Given the description of an element on the screen output the (x, y) to click on. 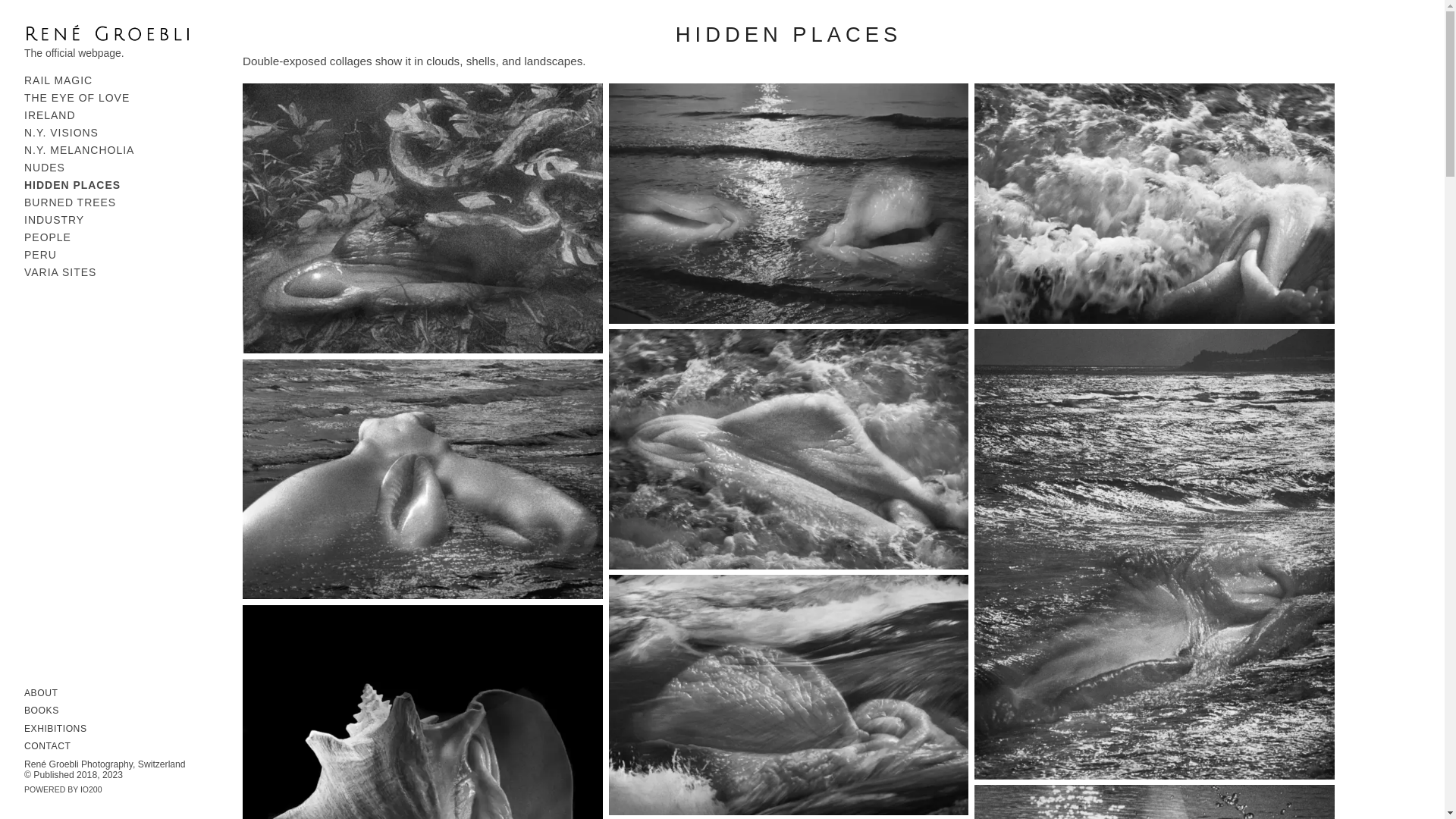
HIDDEN PLACES (72, 184)
PEOPLE (47, 236)
RAIL MAGIC (58, 80)
BURNED TREES (70, 202)
HIDDEN PLACES (72, 184)
RAIL MAGIC (58, 80)
INDUSTRY (54, 219)
BURNED TREES (70, 202)
N.Y. VISIONS (61, 132)
IRELAND (49, 114)
VARIA SITES (60, 272)
N.Y. MELANCHOLIA (78, 150)
NUDES (44, 167)
THE EYE OF LOVE (76, 97)
VARIA SITES (60, 272)
